Given the description of an element on the screen output the (x, y) to click on. 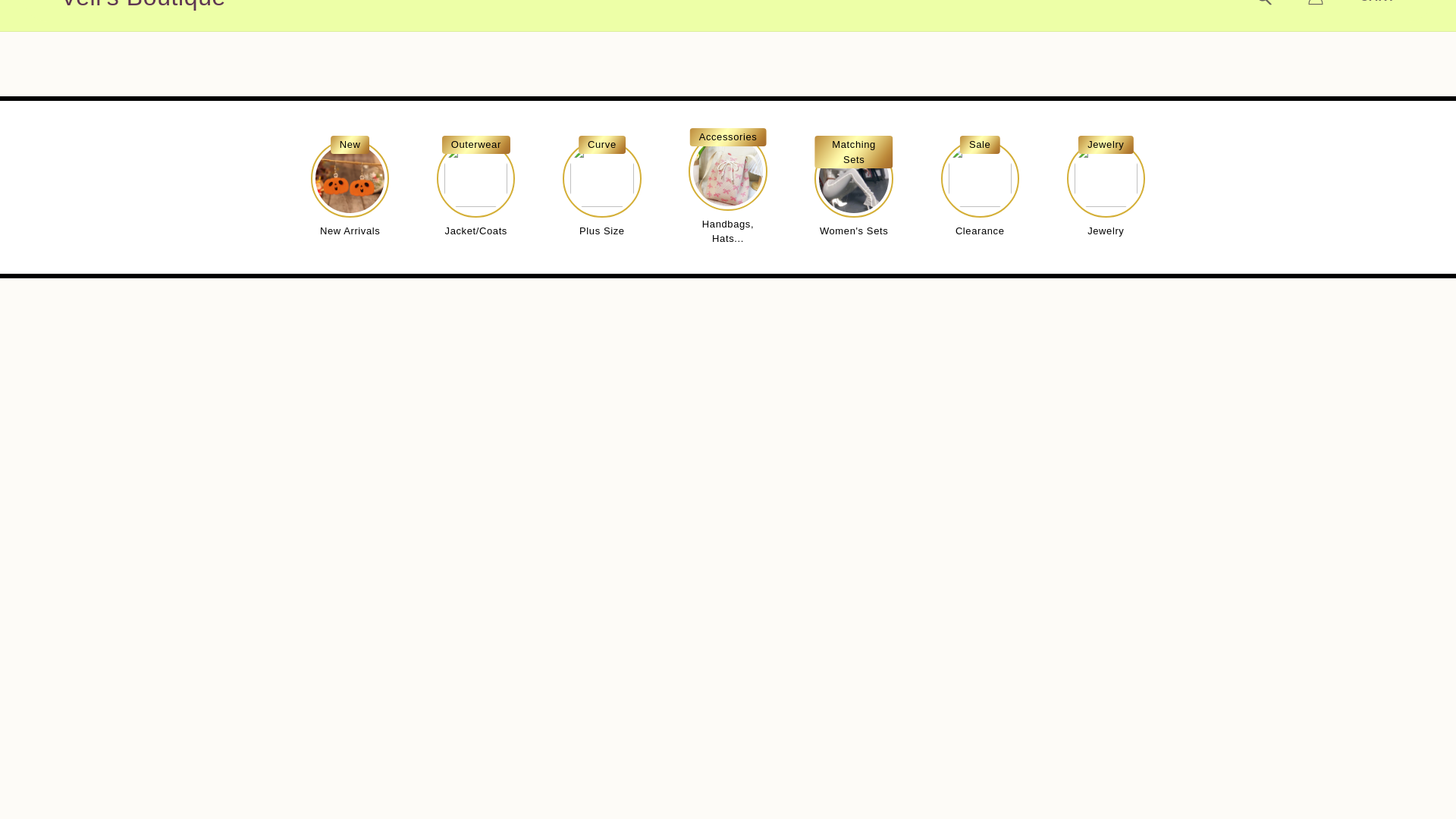
Skip to content (45, 17)
Vell's Boutique (143, 4)
CART (1376, 2)
